Given the description of an element on the screen output the (x, y) to click on. 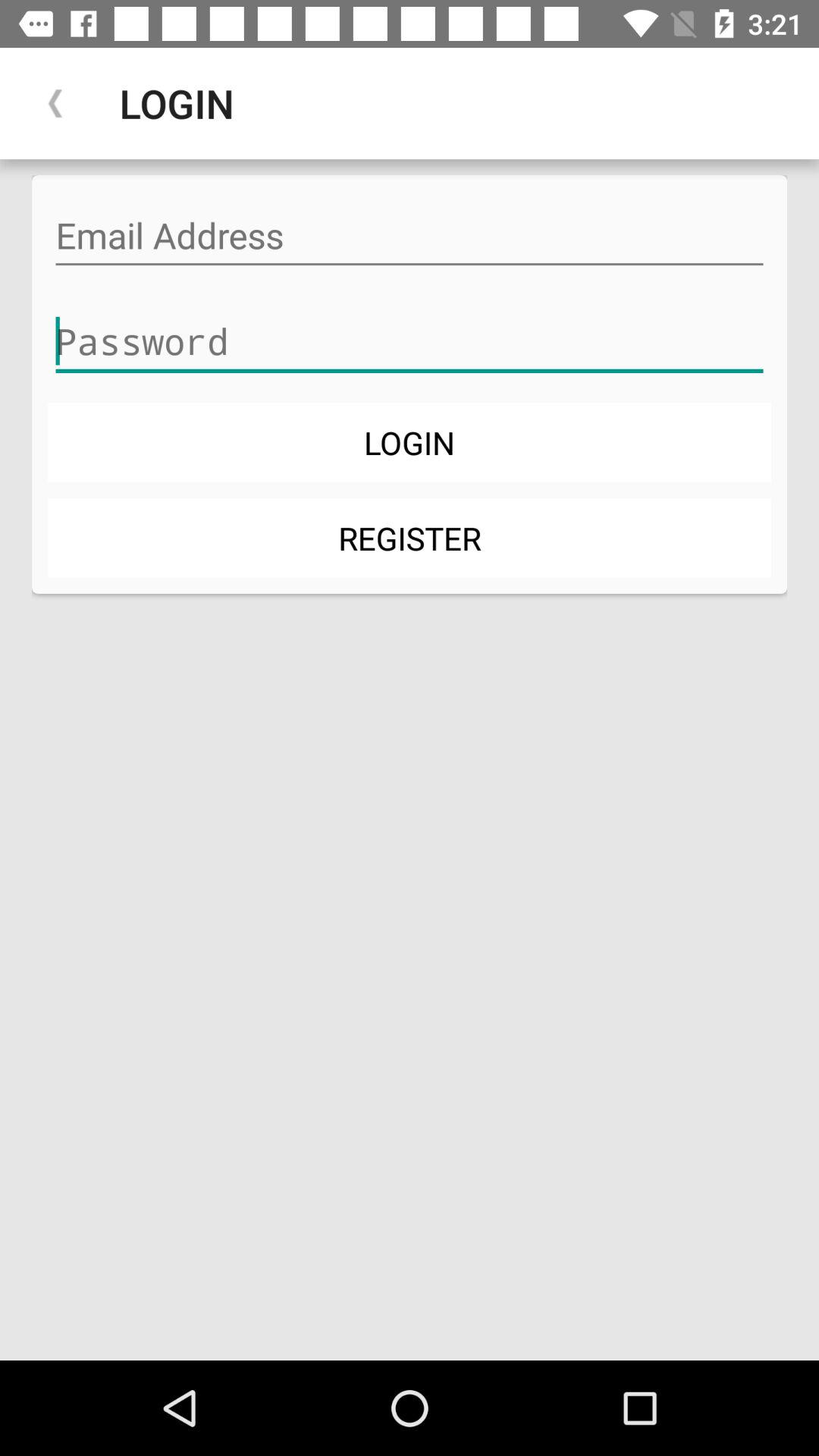
flip to register icon (409, 537)
